Given the description of an element on the screen output the (x, y) to click on. 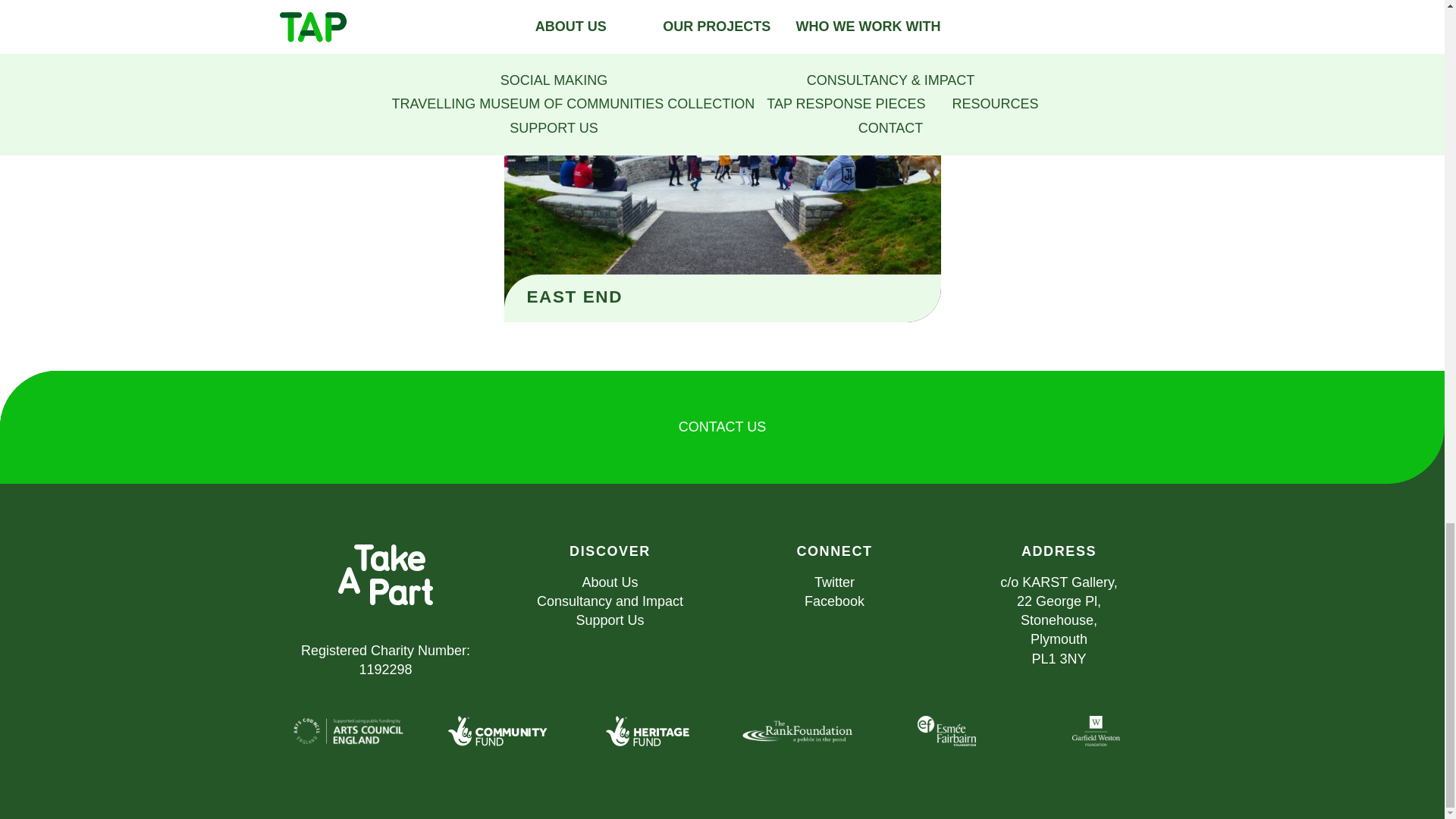
EAST END (574, 296)
Consultancy and Impact (609, 601)
Support Us (609, 620)
Facebook (834, 601)
CONTACT US (721, 427)
Twitter (833, 581)
About Us (608, 581)
